Given the description of an element on the screen output the (x, y) to click on. 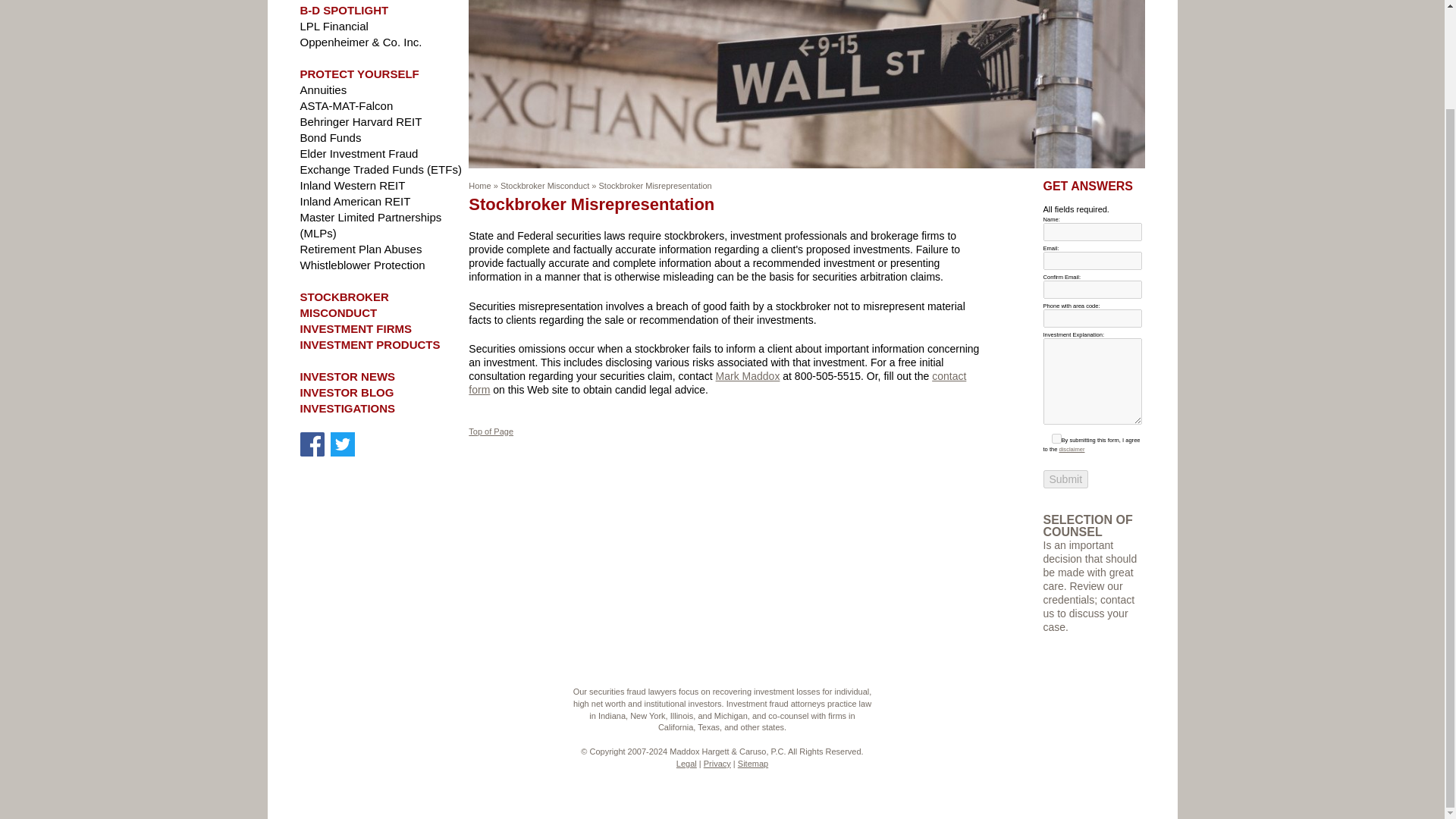
Inland Western REIT (352, 185)
Behringer Harvard REIT (360, 121)
INVESTOR BLOG (346, 391)
ASTA-MAT-Falcon (346, 105)
1 (1056, 438)
Elder Investment Fraud (359, 153)
INVESTMENT PRODUCTS (370, 344)
LPL Financial (333, 25)
PROTECT YOURSELF (359, 73)
Inland American REIT (354, 201)
Submit (1066, 479)
Submit (1066, 479)
STOCKBROKER MISCONDUCT (343, 304)
INVESTMENT FIRMS (355, 328)
SELECTION OF COUNSEL (1087, 525)
